Given the description of an element on the screen output the (x, y) to click on. 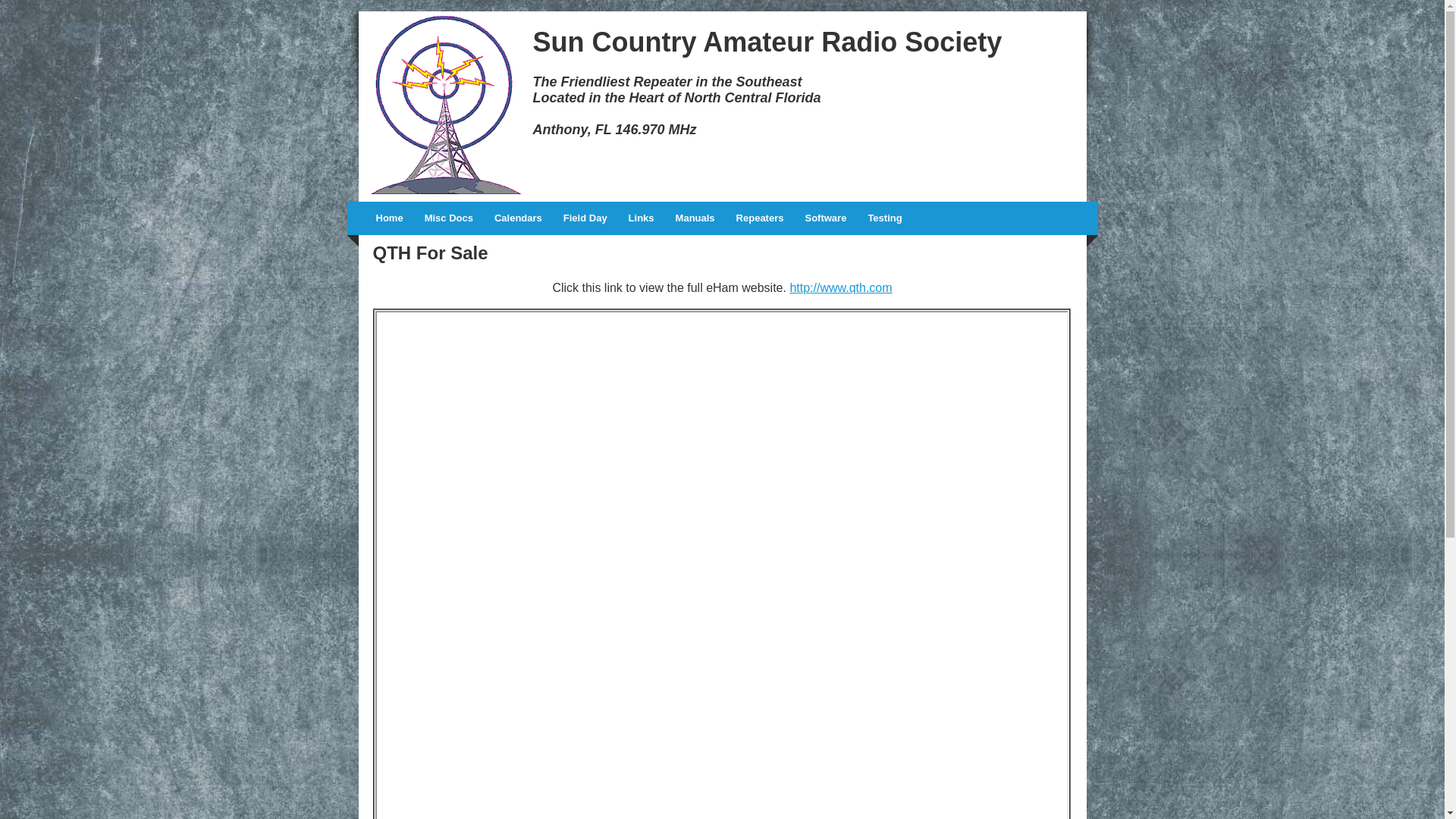
Sun Country Amateur Radio Society Element type: text (766, 41)
Home Element type: text (389, 217)
Field Day Element type: text (585, 217)
Misc Docs Element type: text (448, 217)
Manuals Element type: text (695, 217)
Repeaters Element type: text (759, 217)
Testing Element type: text (884, 217)
Calendars Element type: text (517, 217)
http://www.qth.com Element type: text (840, 287)
Links Element type: text (641, 217)
Software Element type: text (824, 217)
Skip to main content Element type: text (54, 11)
